Given the description of an element on the screen output the (x, y) to click on. 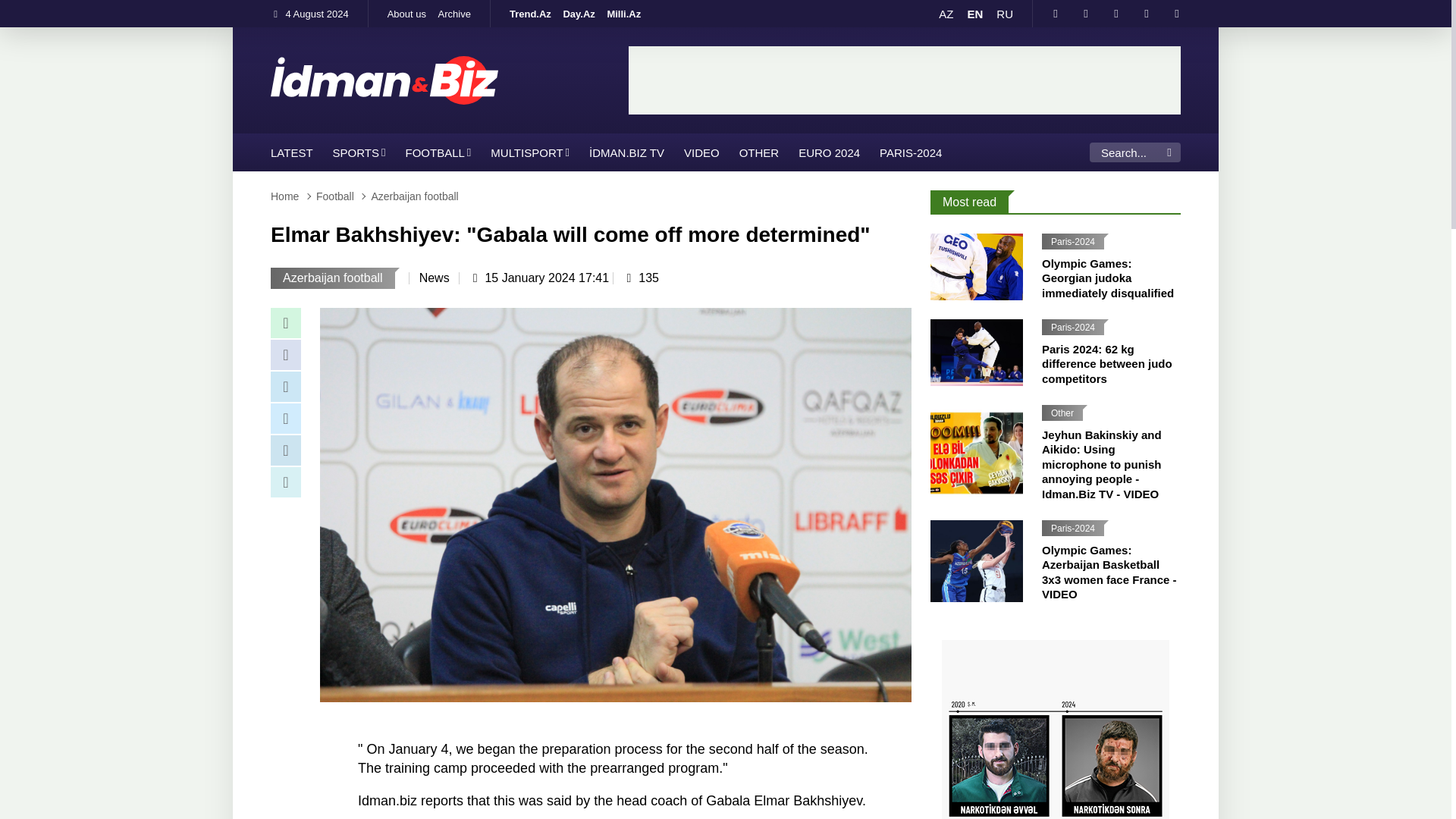
3rd party ad content (904, 79)
LATEST (291, 151)
EN (974, 13)
Day.Az (578, 13)
Trend.Az (530, 13)
AZ (945, 13)
About us (406, 13)
RU (1004, 13)
Milli.Az (622, 13)
Archive (454, 13)
